Given the description of an element on the screen output the (x, y) to click on. 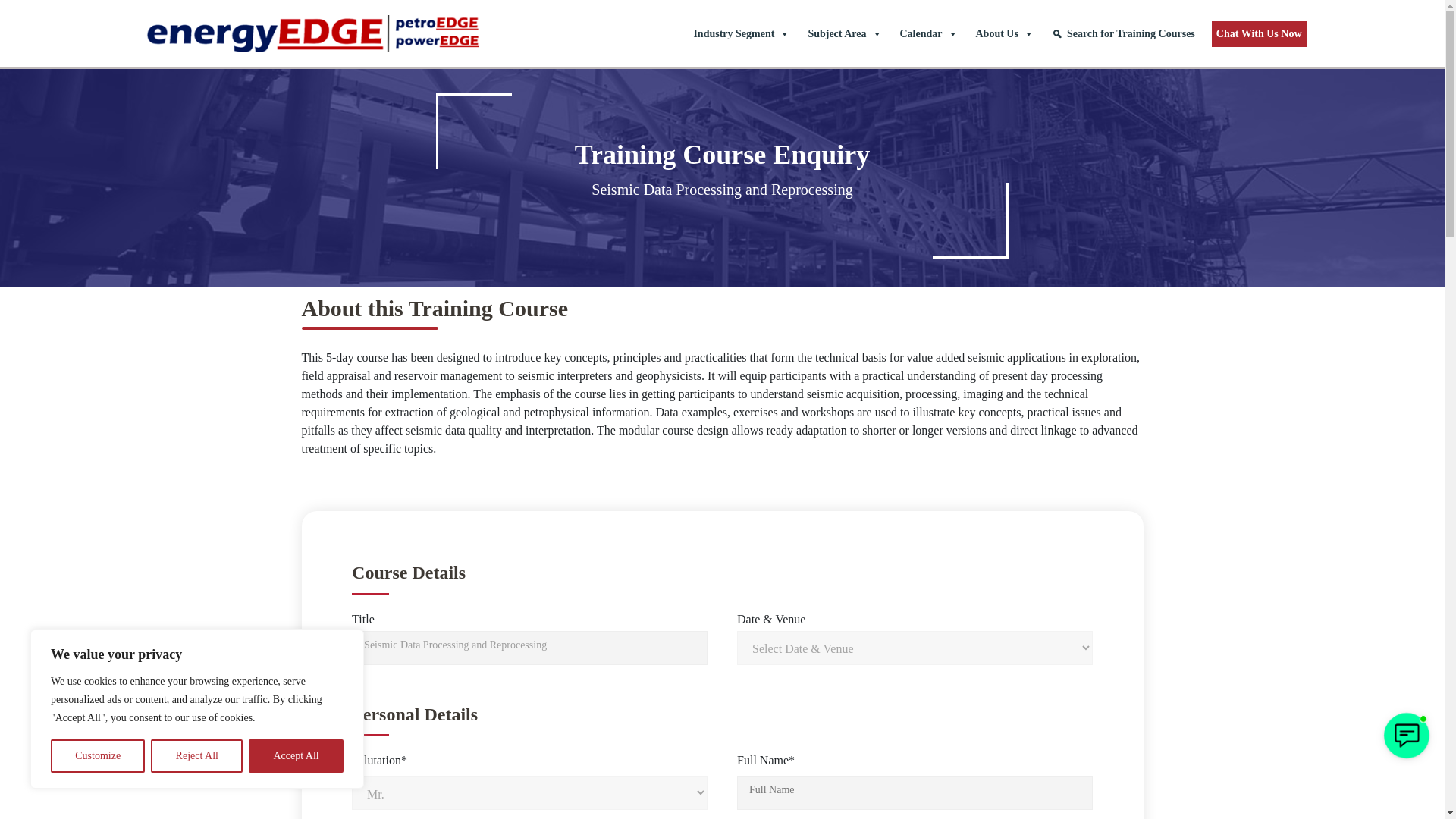
Industry Segment (740, 33)
Customize (97, 756)
Subject Area (843, 33)
Accept All (295, 756)
wp-bit-assist (1406, 735)
Reject All (197, 756)
Seismic Data Processing and Reprocessing (529, 647)
